Given the description of an element on the screen output the (x, y) to click on. 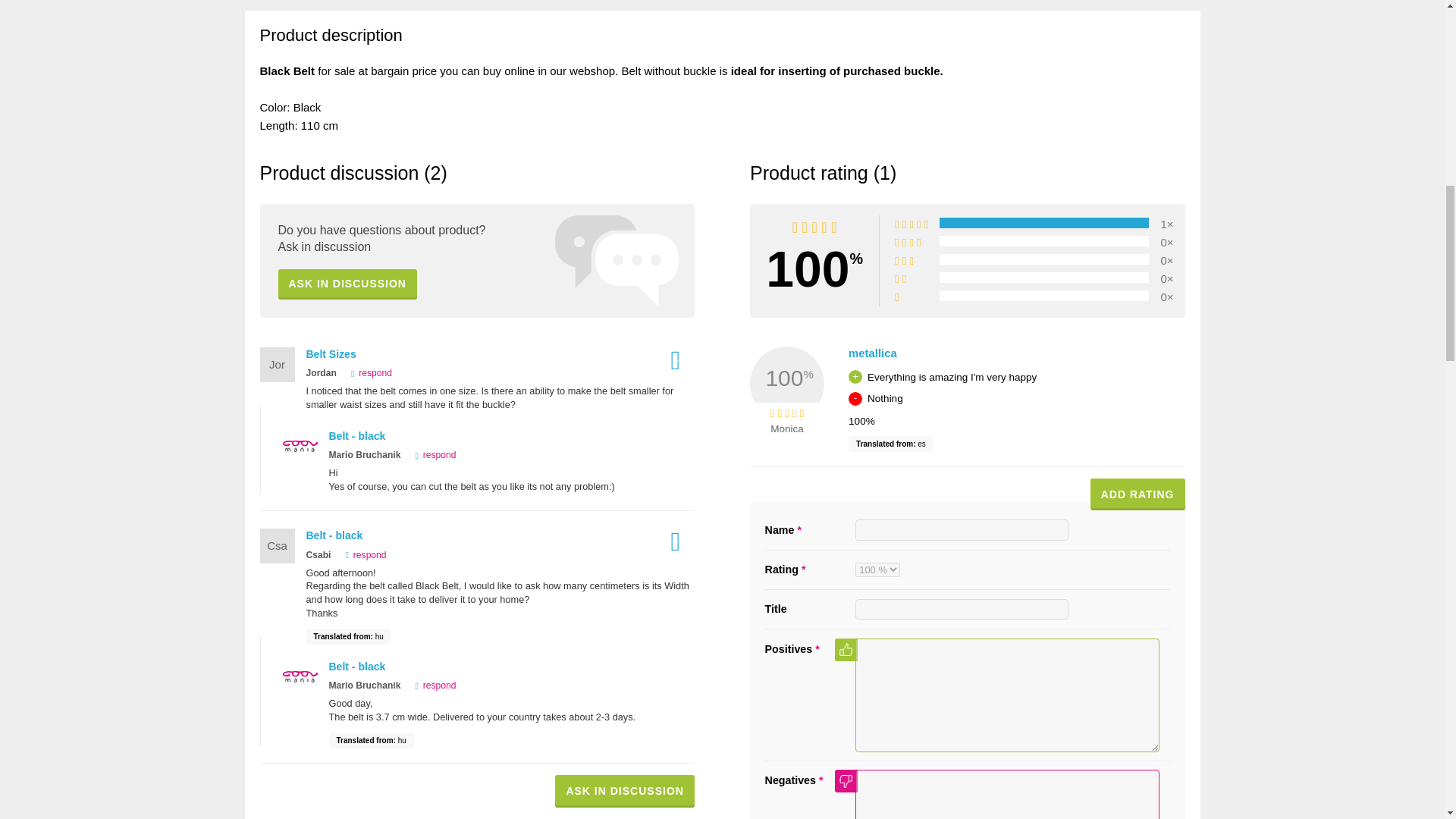
ASK IN DISCUSSION (624, 790)
ASK IN DISCUSSION (347, 284)
respond (360, 554)
respond (430, 685)
ADD RATING (1137, 494)
respond (430, 454)
respond (366, 372)
